Given the description of an element on the screen output the (x, y) to click on. 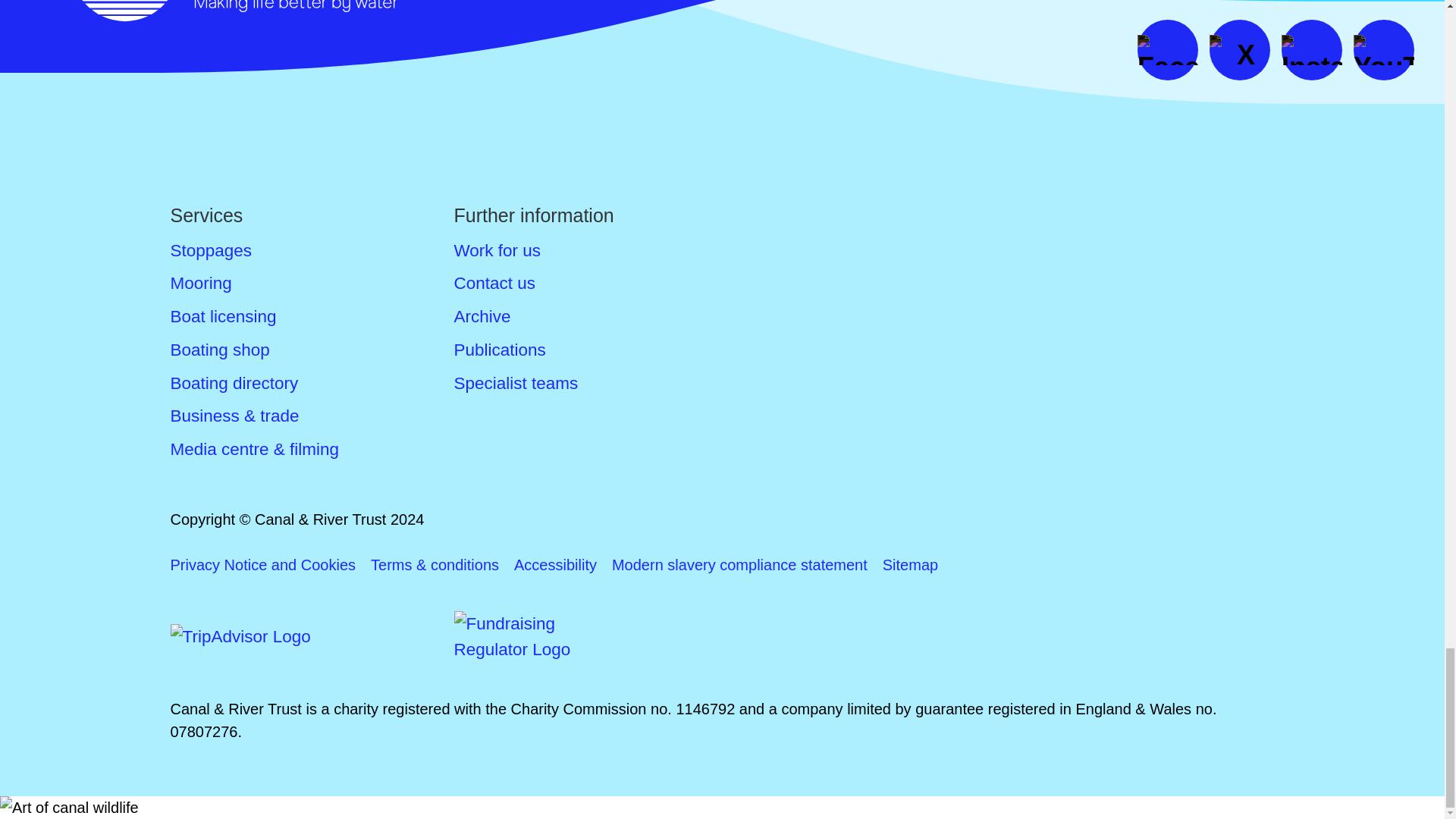
Stoppages (210, 250)
Boat licensing (223, 316)
Mooring (200, 282)
Boating shop (219, 349)
